Given the description of an element on the screen output the (x, y) to click on. 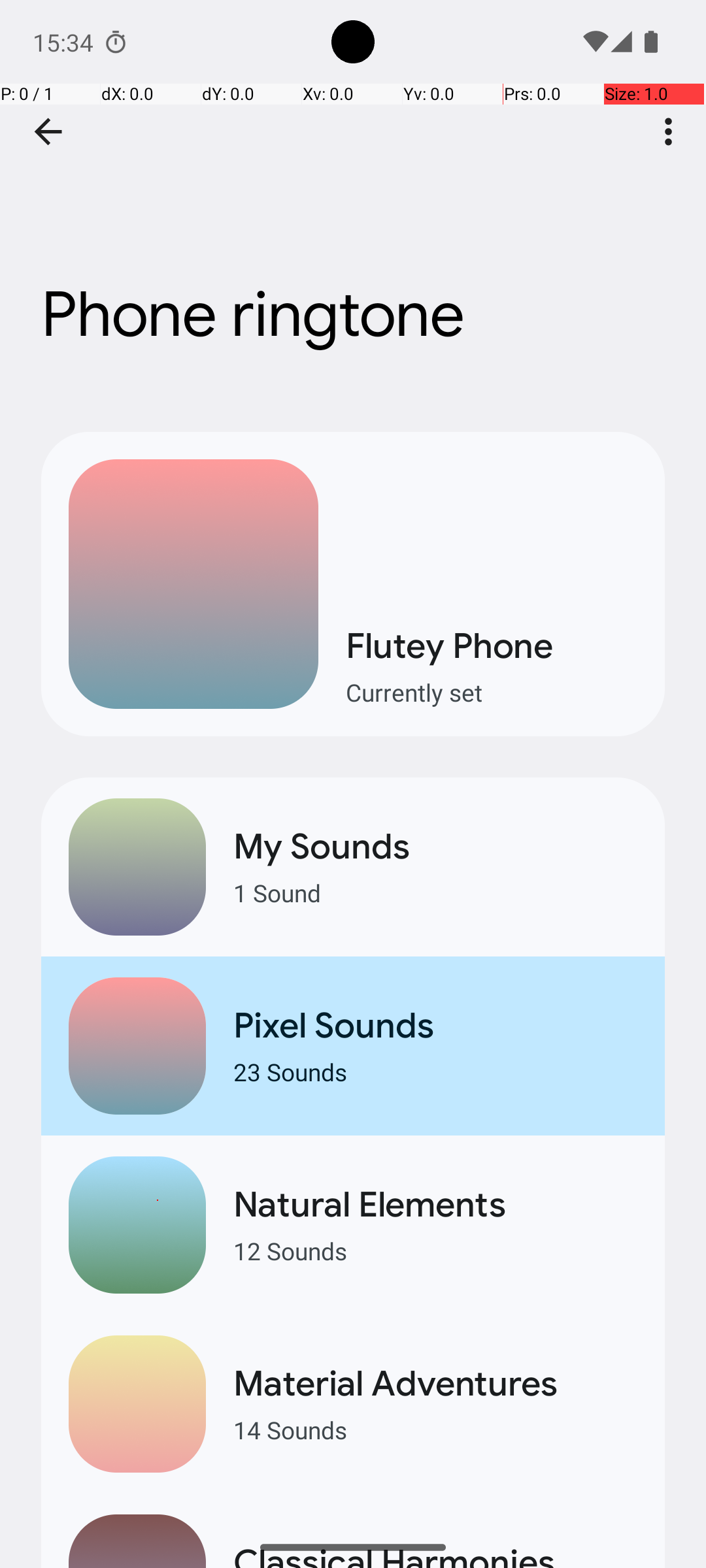
Currently set Element type: android.widget.TextView (491, 691)
My Sounds Element type: android.widget.TextView (435, 846)
1 Sound Element type: android.widget.TextView (435, 892)
Material Adventures Element type: android.widget.TextView (435, 1383)
14 Sounds Element type: android.widget.TextView (435, 1429)
